Given the description of an element on the screen output the (x, y) to click on. 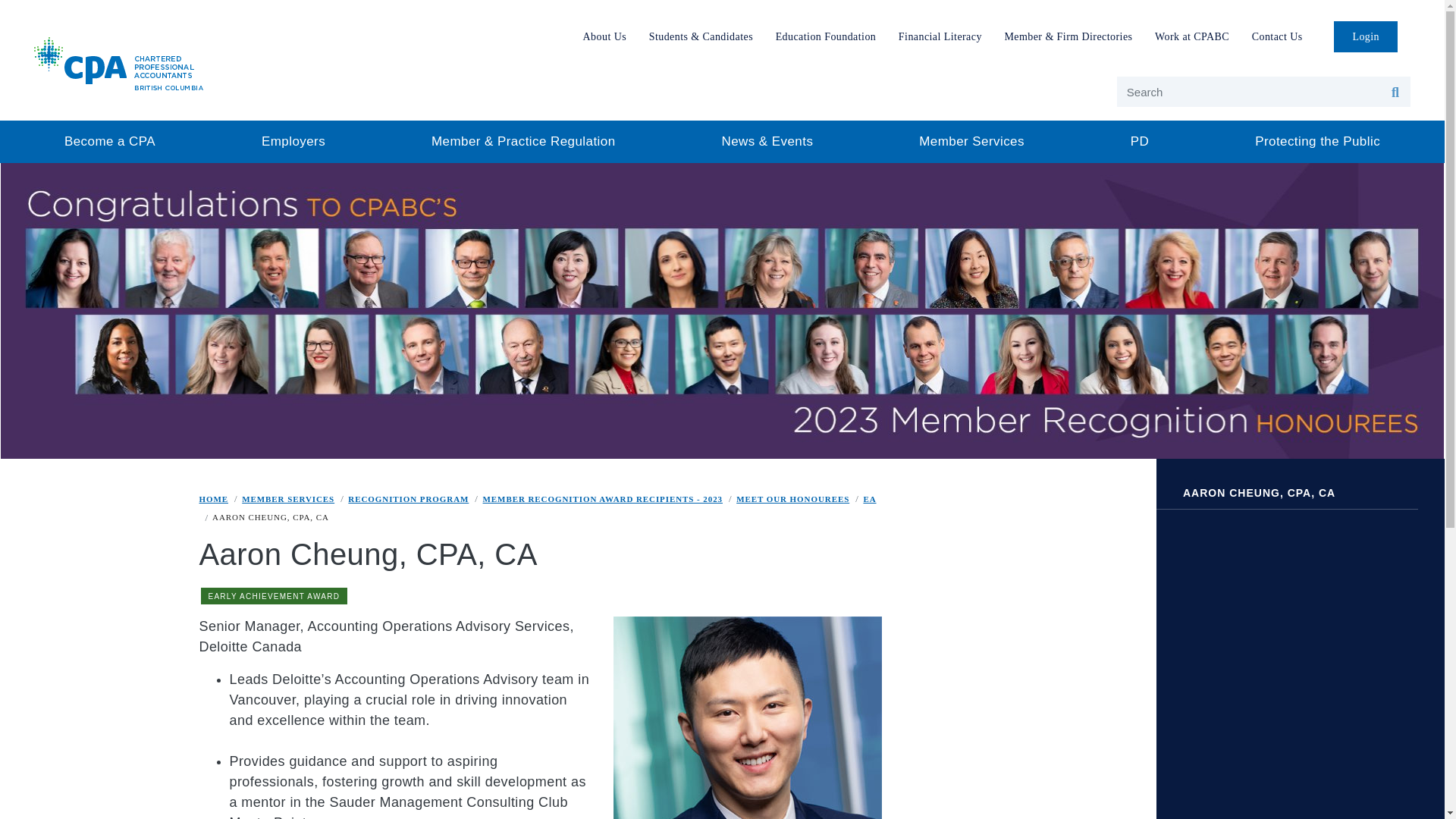
MEMBER SERVICES (287, 498)
PD (1139, 141)
Member Services (971, 141)
HOME (213, 498)
Login (1365, 36)
Education Foundation (825, 36)
Employers (293, 141)
Work at CPABC (1192, 36)
Work at CPABC (1192, 36)
Employers (293, 141)
Become a CPA (109, 141)
About Us (604, 36)
Login (1365, 36)
Education Foundation (825, 36)
Financial Literacy (940, 36)
